Given the description of an element on the screen output the (x, y) to click on. 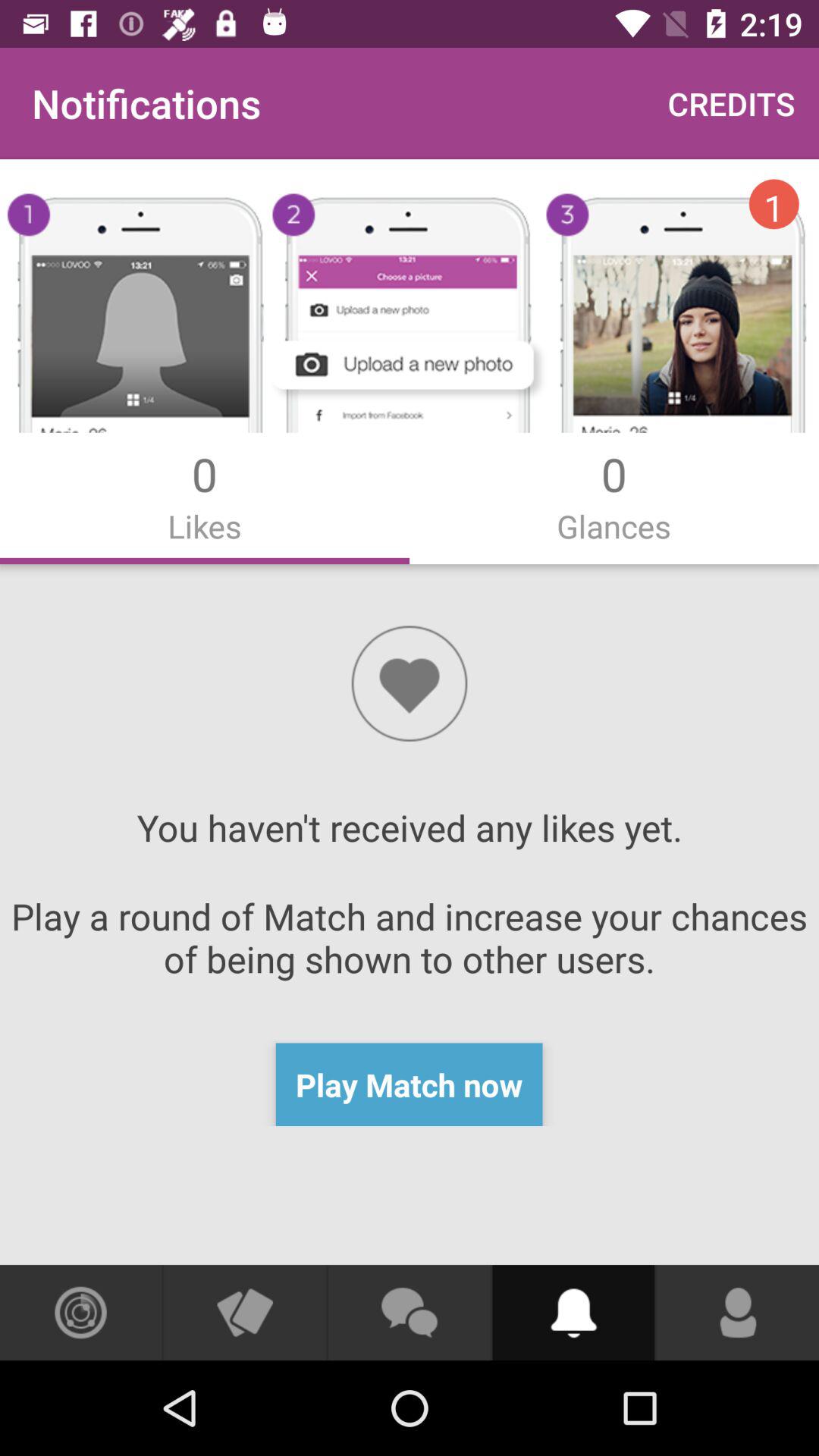
alert informations button (573, 1312)
